Given the description of an element on the screen output the (x, y) to click on. 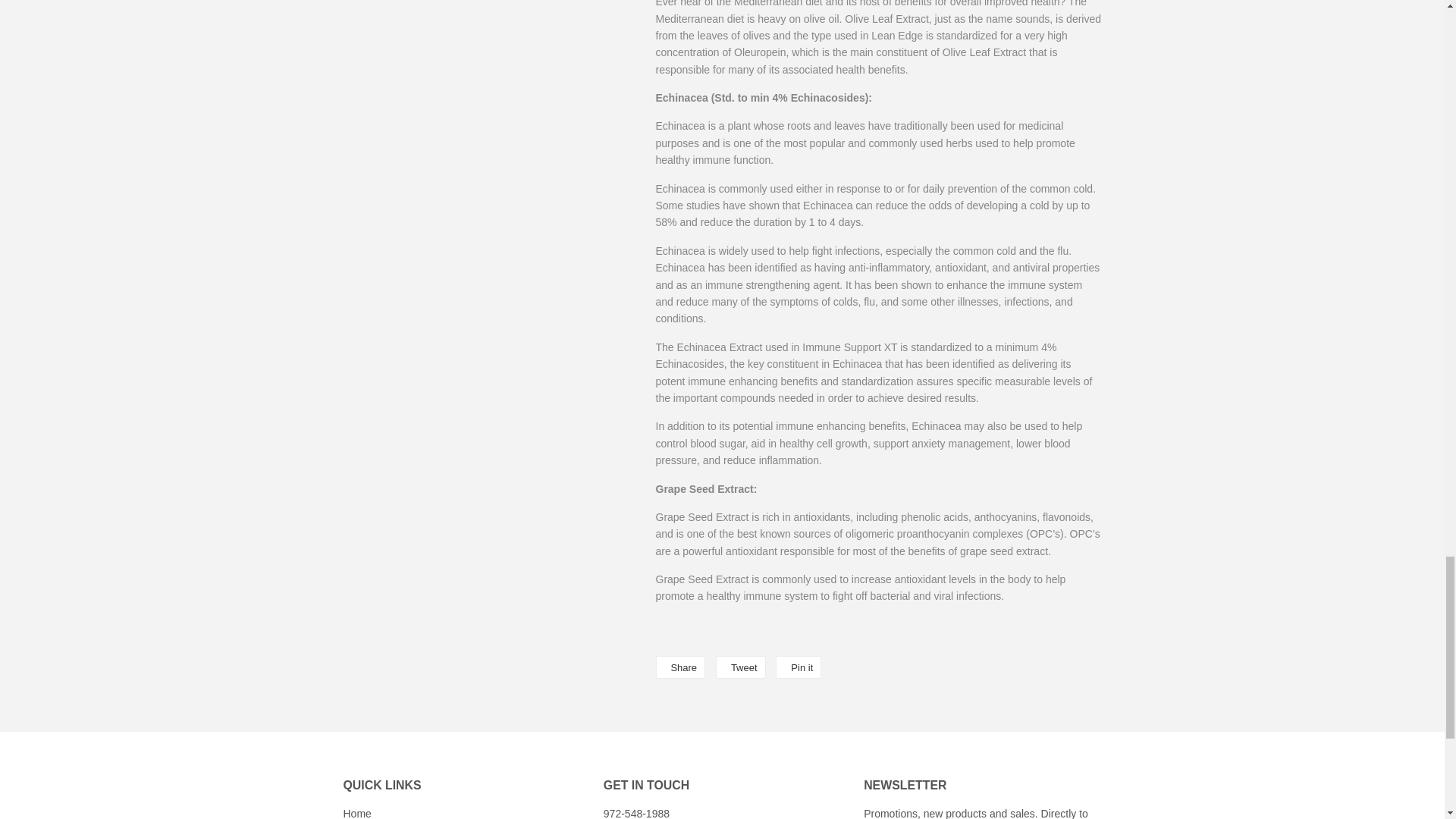
Pin on Pinterest (798, 667)
Tweet on Twitter (740, 667)
Share on Facebook (679, 667)
